Given the description of an element on the screen output the (x, y) to click on. 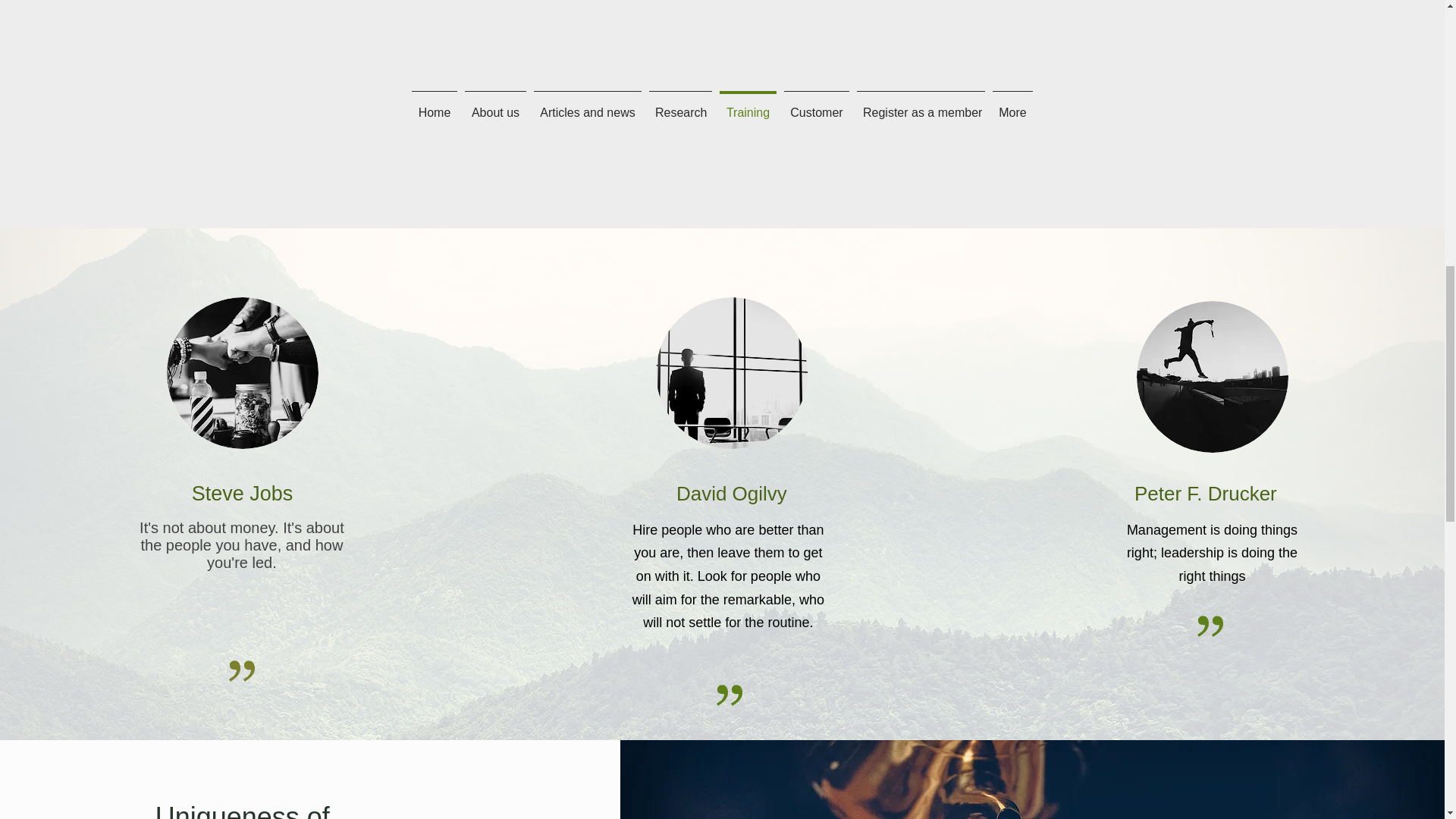
GettyImages-535587703.jpg (242, 372)
GettyImages-145680711.jpg (1212, 376)
GettyImages-124893619.jpg (732, 372)
